Given the description of an element on the screen output the (x, y) to click on. 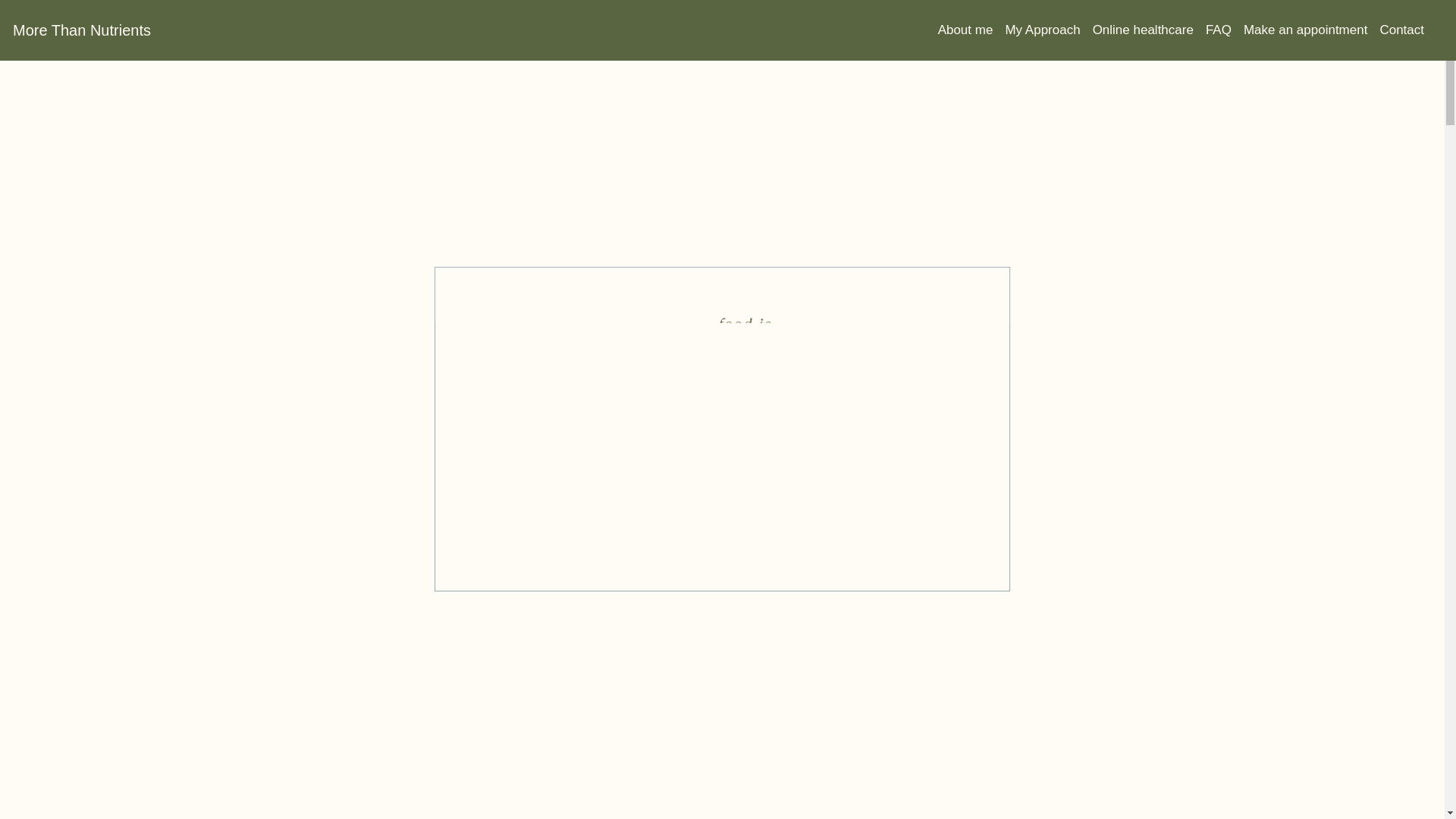
Make an appointment (1312, 29)
About me (971, 29)
Contact (1407, 29)
More Than Nutrients (82, 30)
My Approach (1048, 29)
Online healthcare (1149, 29)
